Given the description of an element on the screen output the (x, y) to click on. 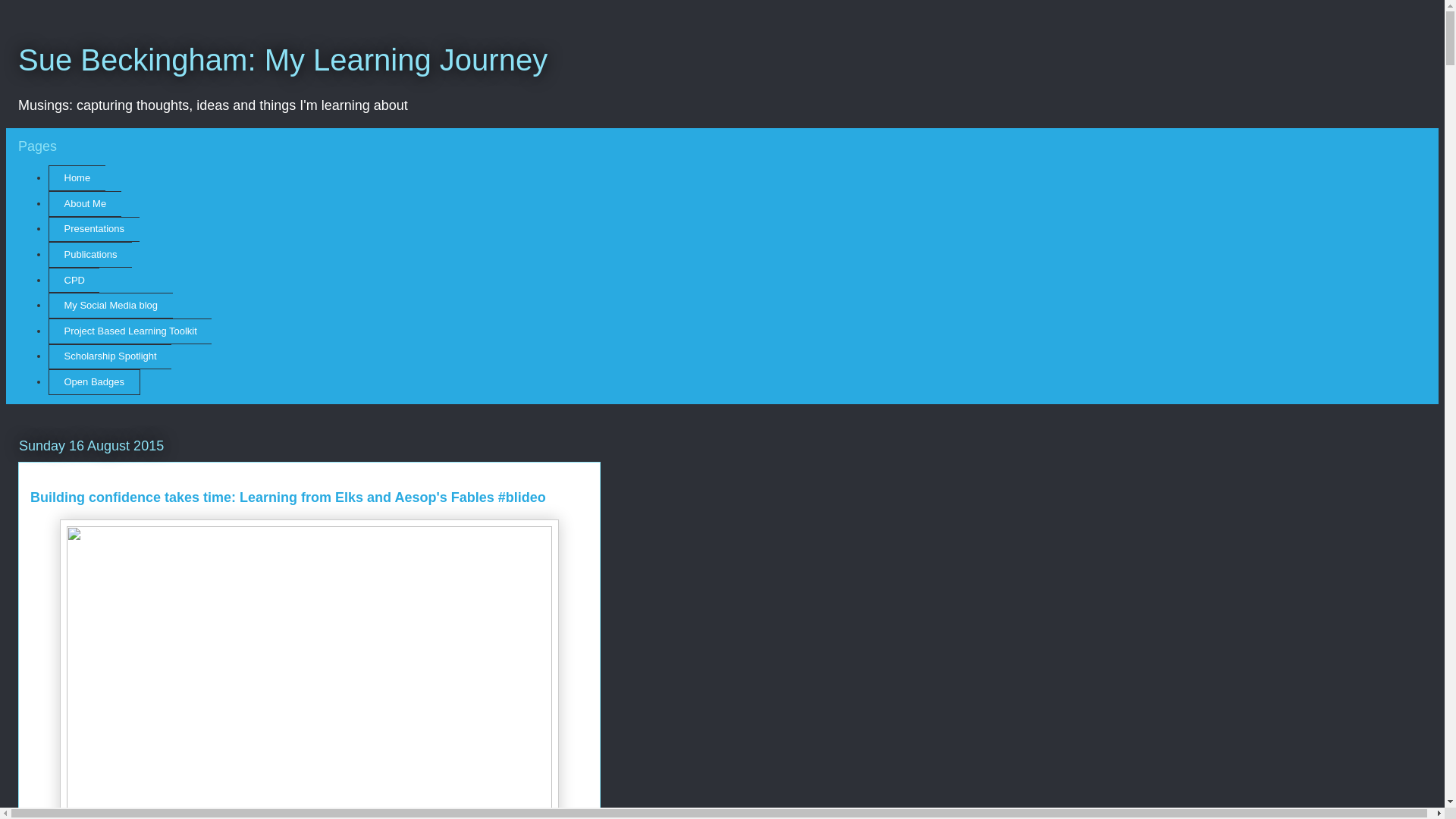
Open Badges (93, 381)
Publications (90, 254)
Project Based Learning Toolkit (129, 330)
CPD (73, 280)
My Social Media blog (110, 305)
Home (76, 177)
Sue Beckingham: My Learning Journey (282, 59)
Scholarship Spotlight (109, 356)
About Me (84, 203)
Presentations (93, 229)
